Given the description of an element on the screen output the (x, y) to click on. 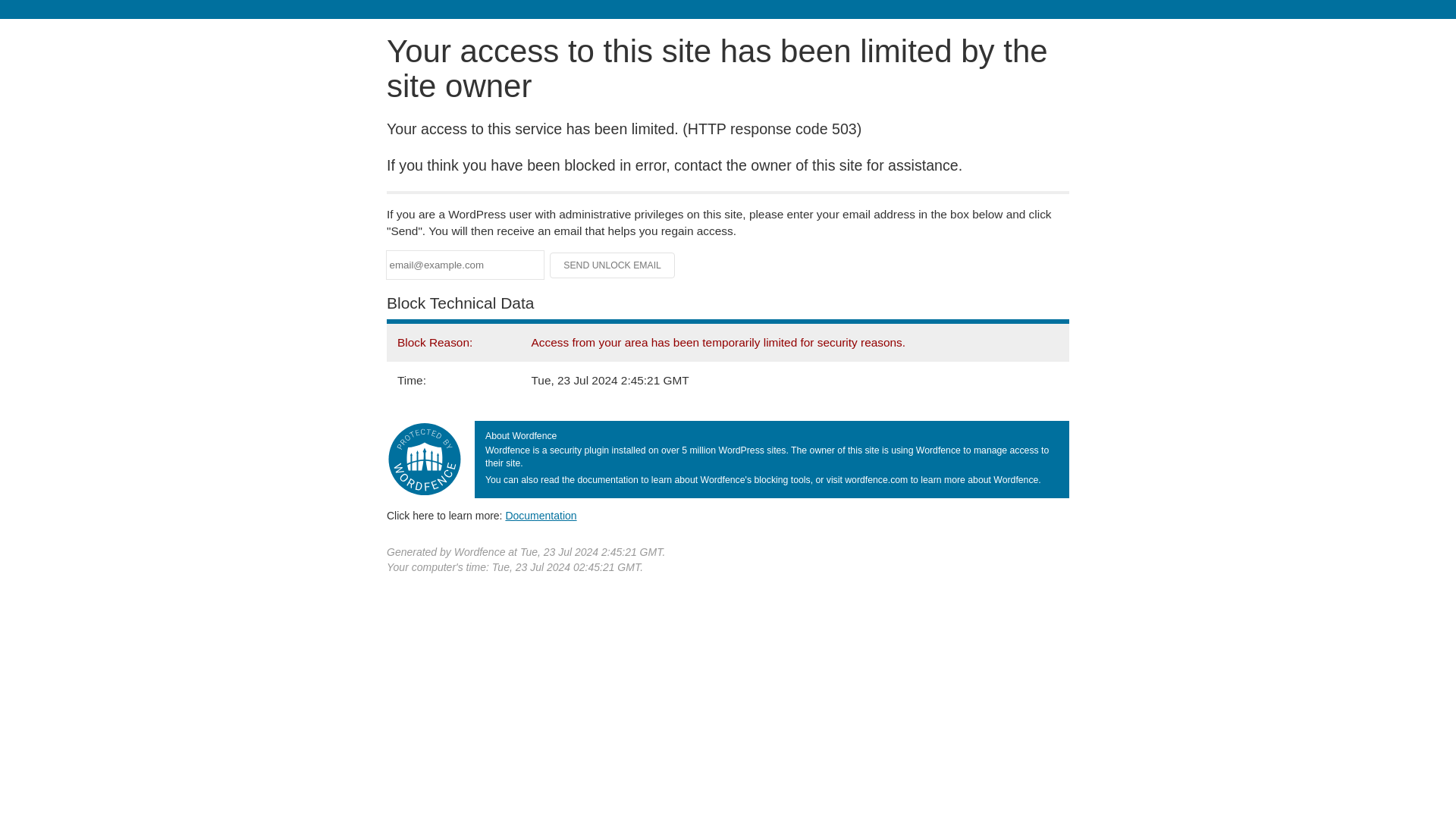
Documentation (540, 515)
Send Unlock Email (612, 265)
Send Unlock Email (612, 265)
